Given the description of an element on the screen output the (x, y) to click on. 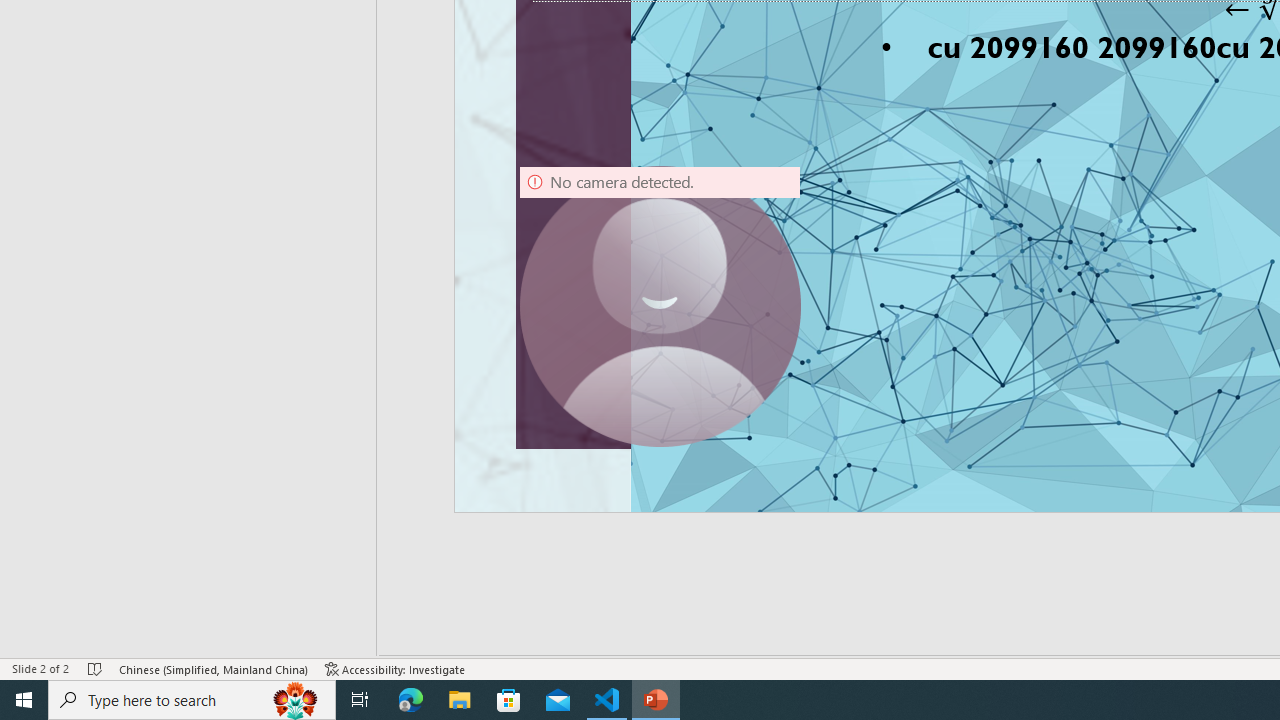
Camera 9, No camera detected. (660, 306)
